Given the description of an element on the screen output the (x, y) to click on. 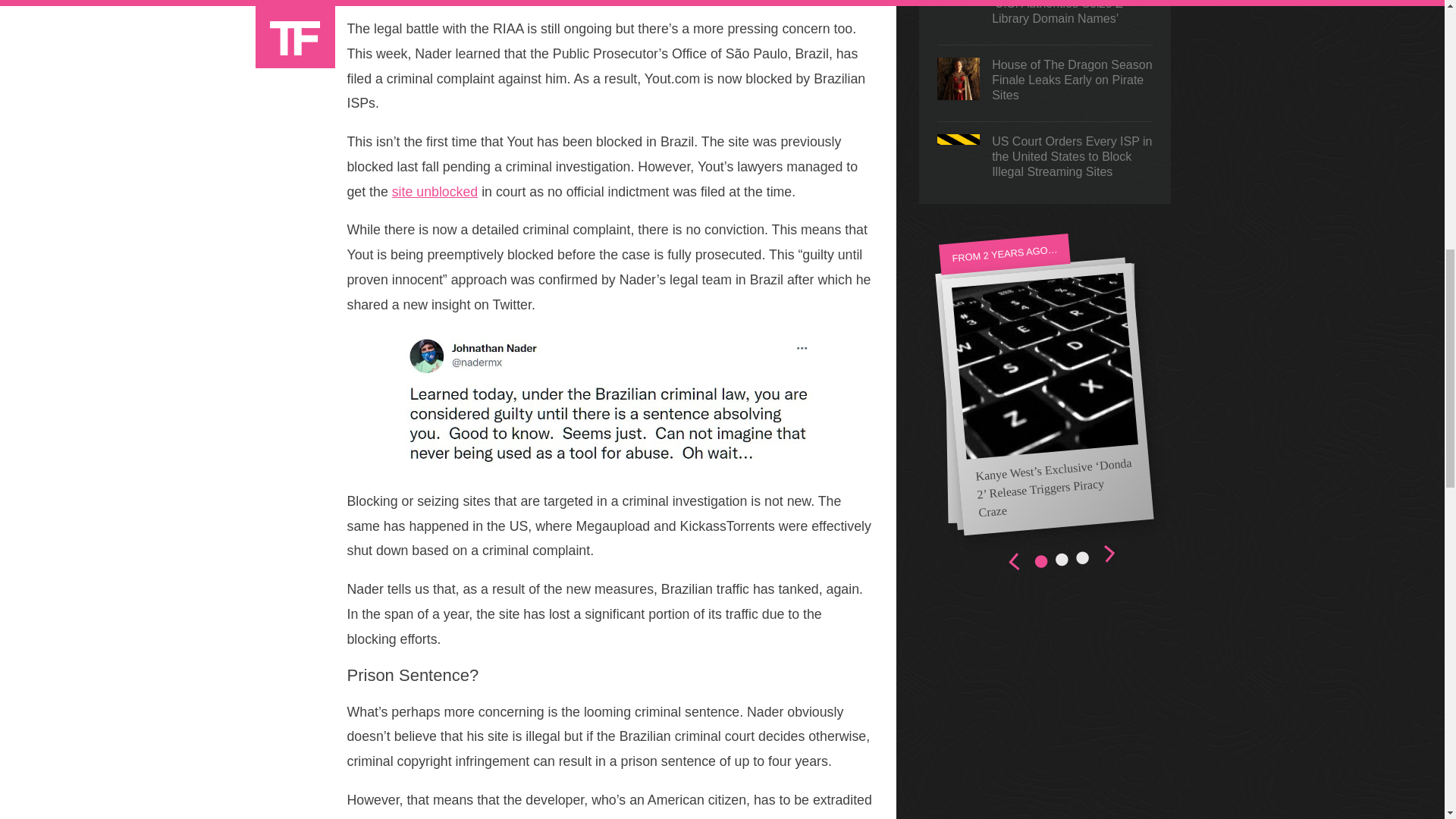
site unblocked (434, 191)
